Given the description of an element on the screen output the (x, y) to click on. 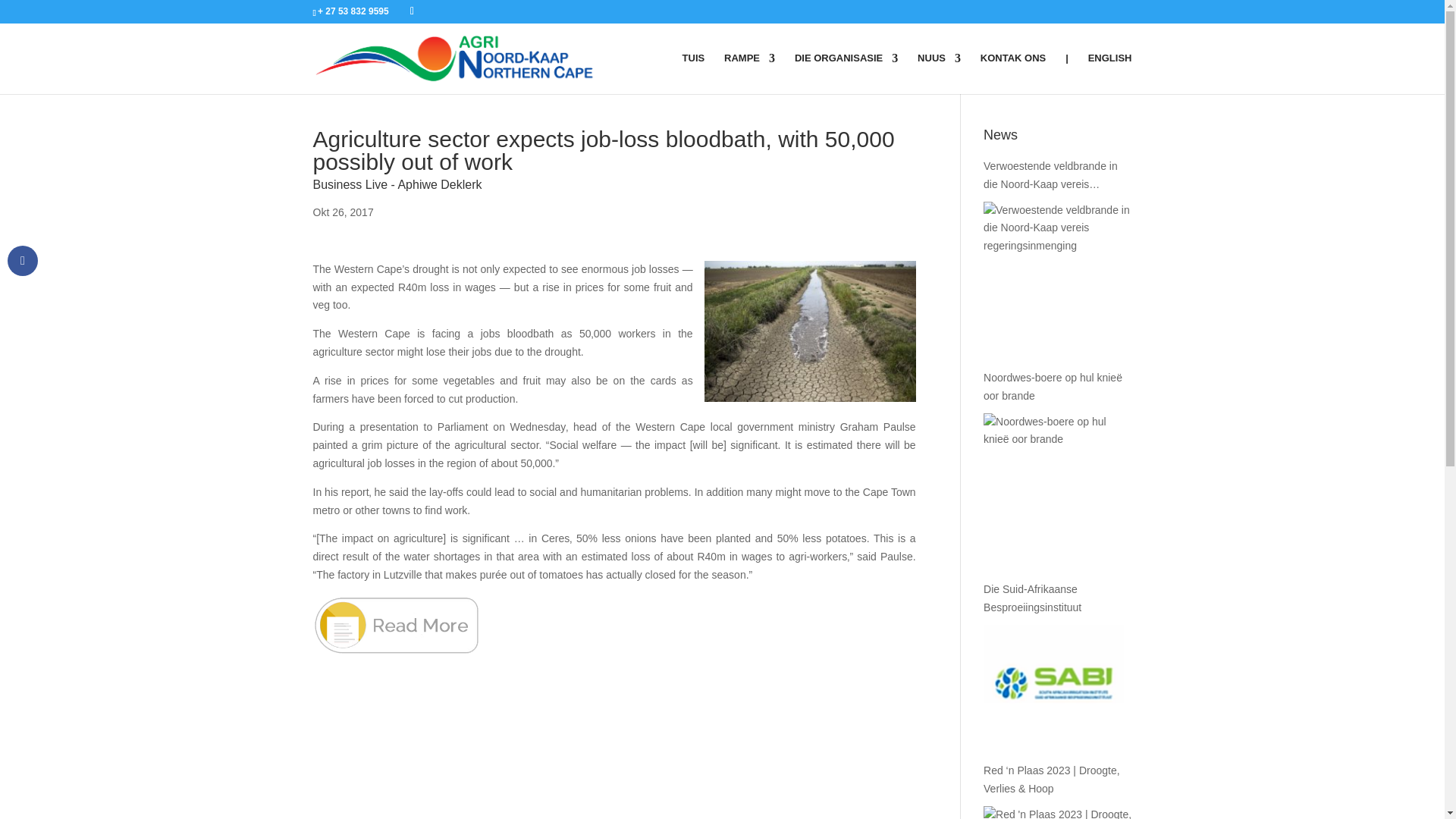
NUUS (938, 73)
DIE ORGANISASIE (846, 73)
KONTAK ONS (1012, 73)
Die Suid-Afrikaanse Besproeiingsinstituut (1054, 683)
ENGLISH (1109, 73)
RAMPE (748, 73)
Die Suid-Afrikaanse Besproeiingsinstituut (1057, 598)
